Given the description of an element on the screen output the (x, y) to click on. 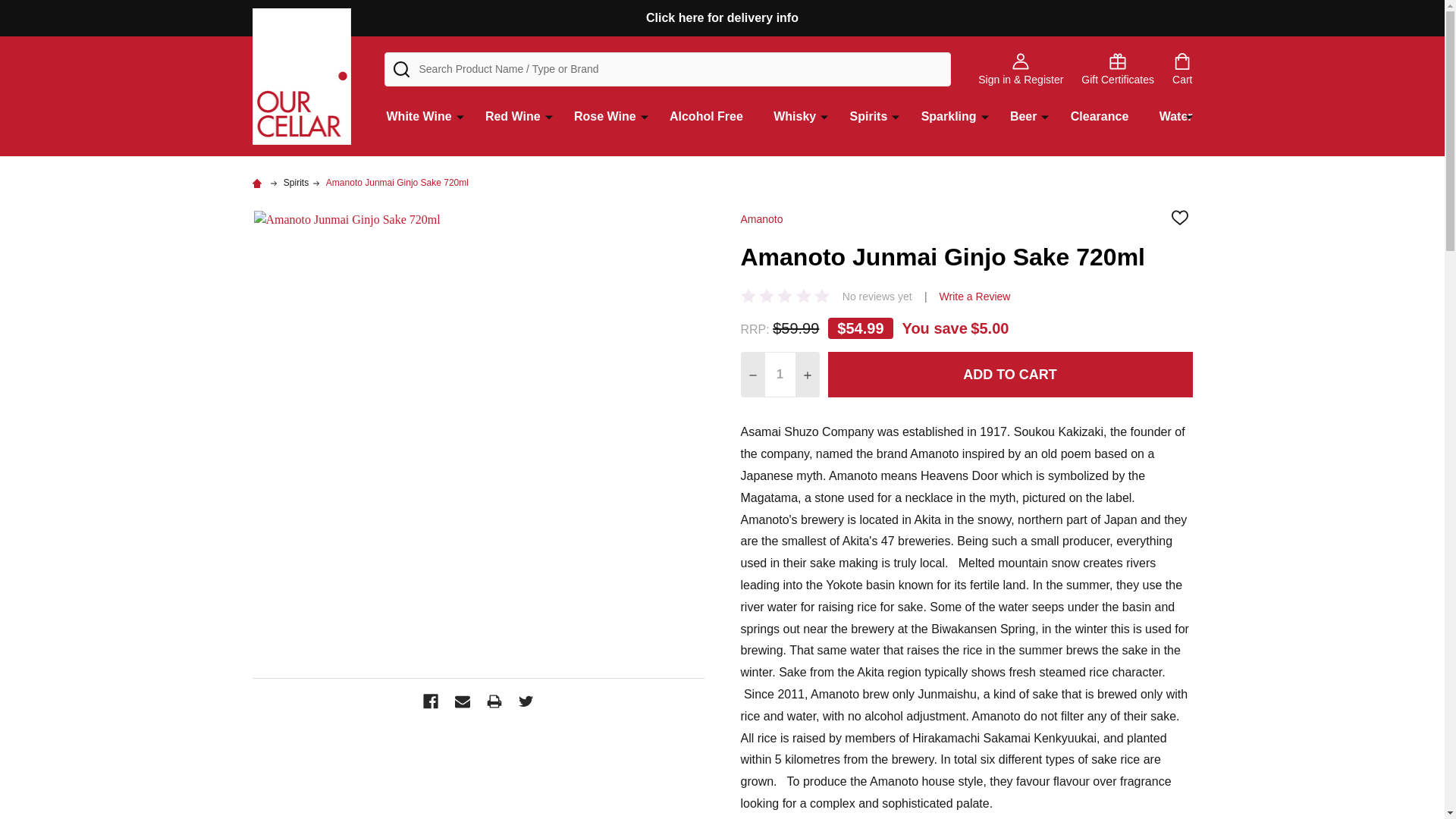
Spirits (295, 182)
Amanoto Junmai Ginjo Sake 720ml (397, 182)
White Wine (415, 122)
Click here for delivery info (721, 17)
Add to Wish List (1179, 217)
Home (257, 182)
Gift Certificates (1117, 69)
